Given the description of an element on the screen output the (x, y) to click on. 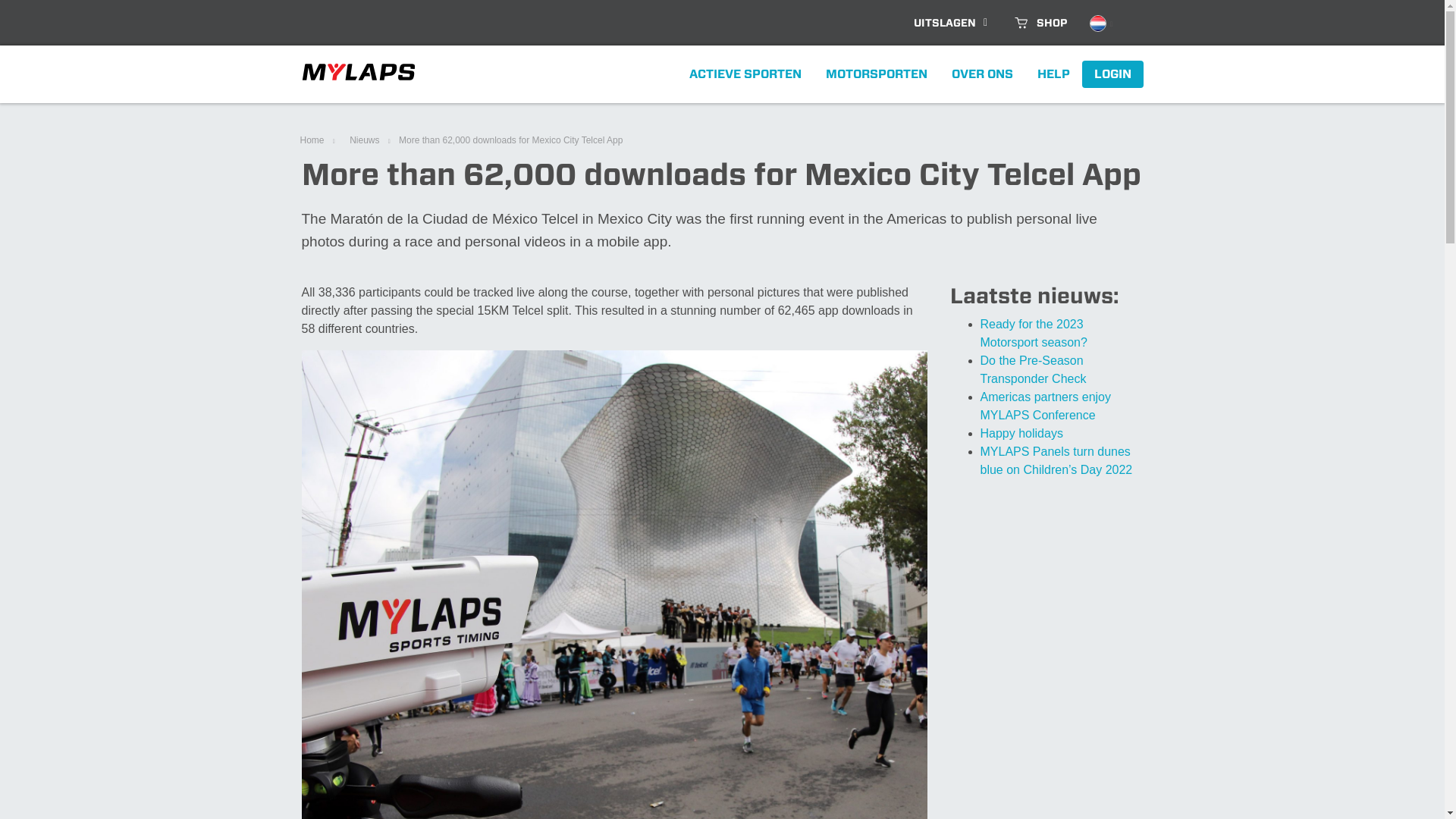
ACTIEVE SPORTEN (744, 74)
Uitslagen (951, 22)
SHOP (1040, 22)
Actieve Sporten (744, 74)
Shop (1040, 22)
UITSLAGEN (951, 22)
MOTORSPORTEN (875, 74)
